Given the description of an element on the screen output the (x, y) to click on. 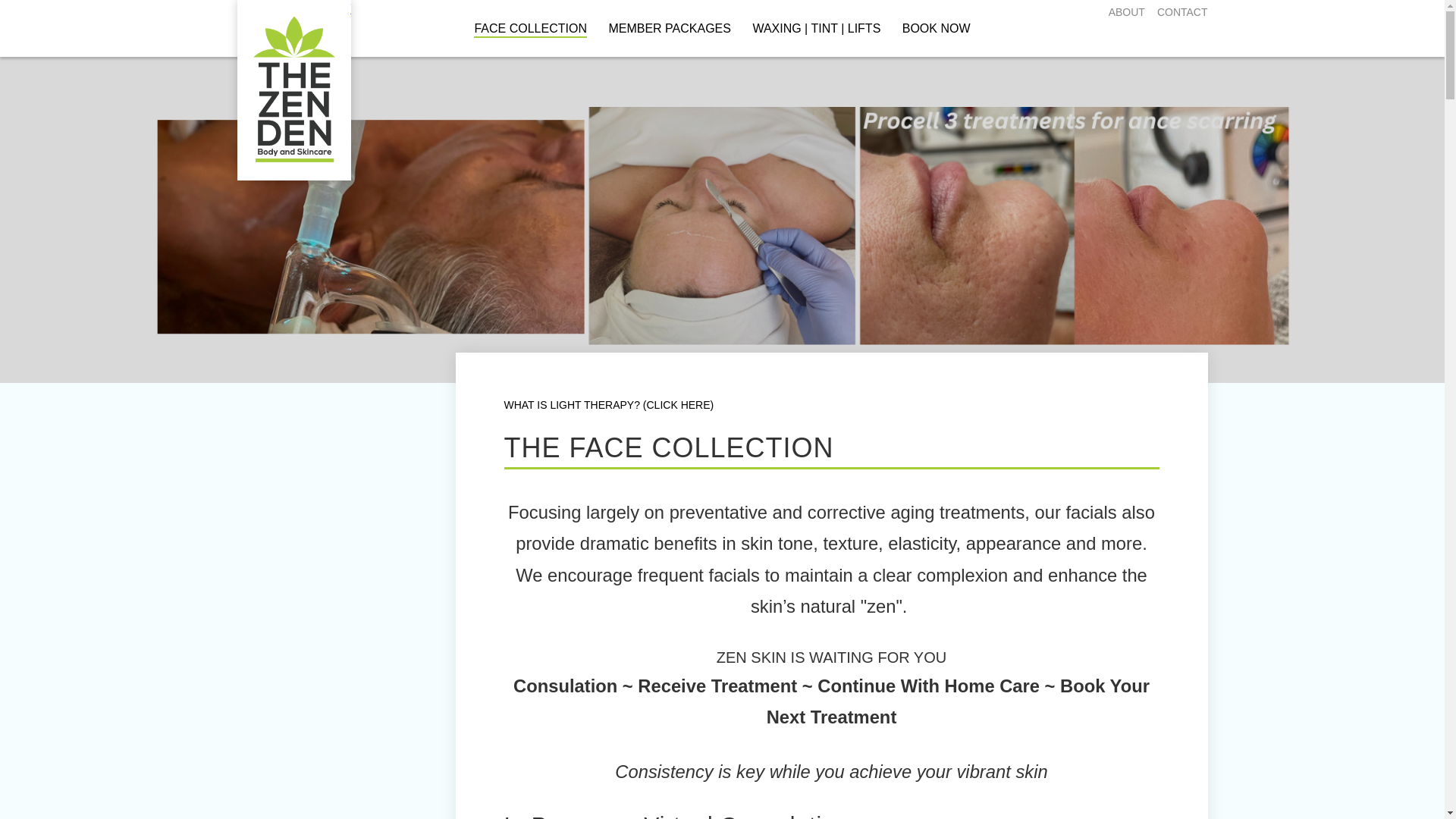
MEMBER PACKAGES (669, 29)
BOOK NOW (936, 29)
FACE COLLECTION (530, 29)
Home (292, 34)
home (292, 34)
CONTACT (1182, 11)
ABOUT (1126, 11)
